Given the description of an element on the screen output the (x, y) to click on. 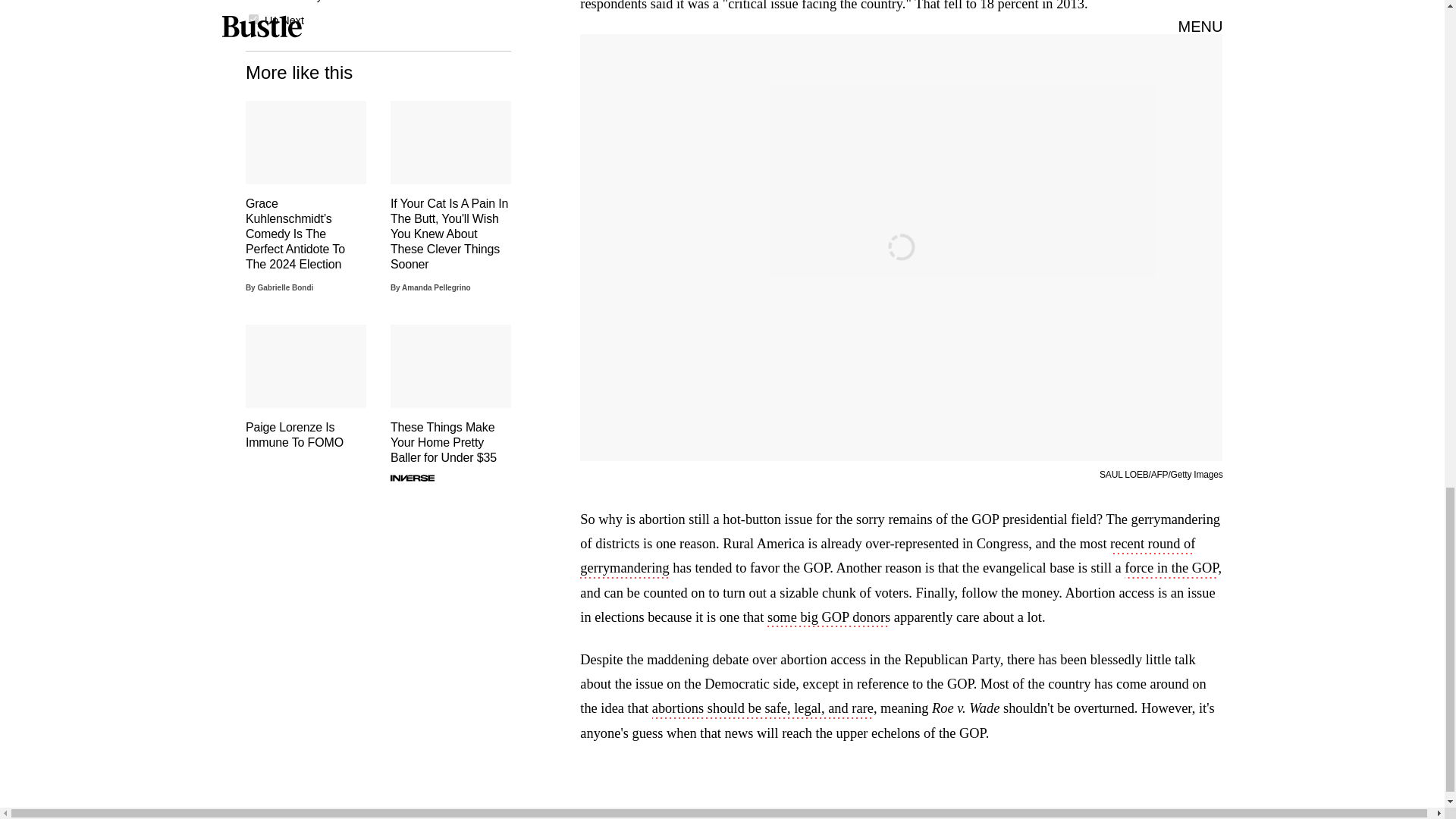
some big GOP donors (828, 618)
recent round of gerrymandering (887, 557)
abortions should be safe, legal, and rare (762, 710)
force in the GOP (1170, 569)
